Given the description of an element on the screen output the (x, y) to click on. 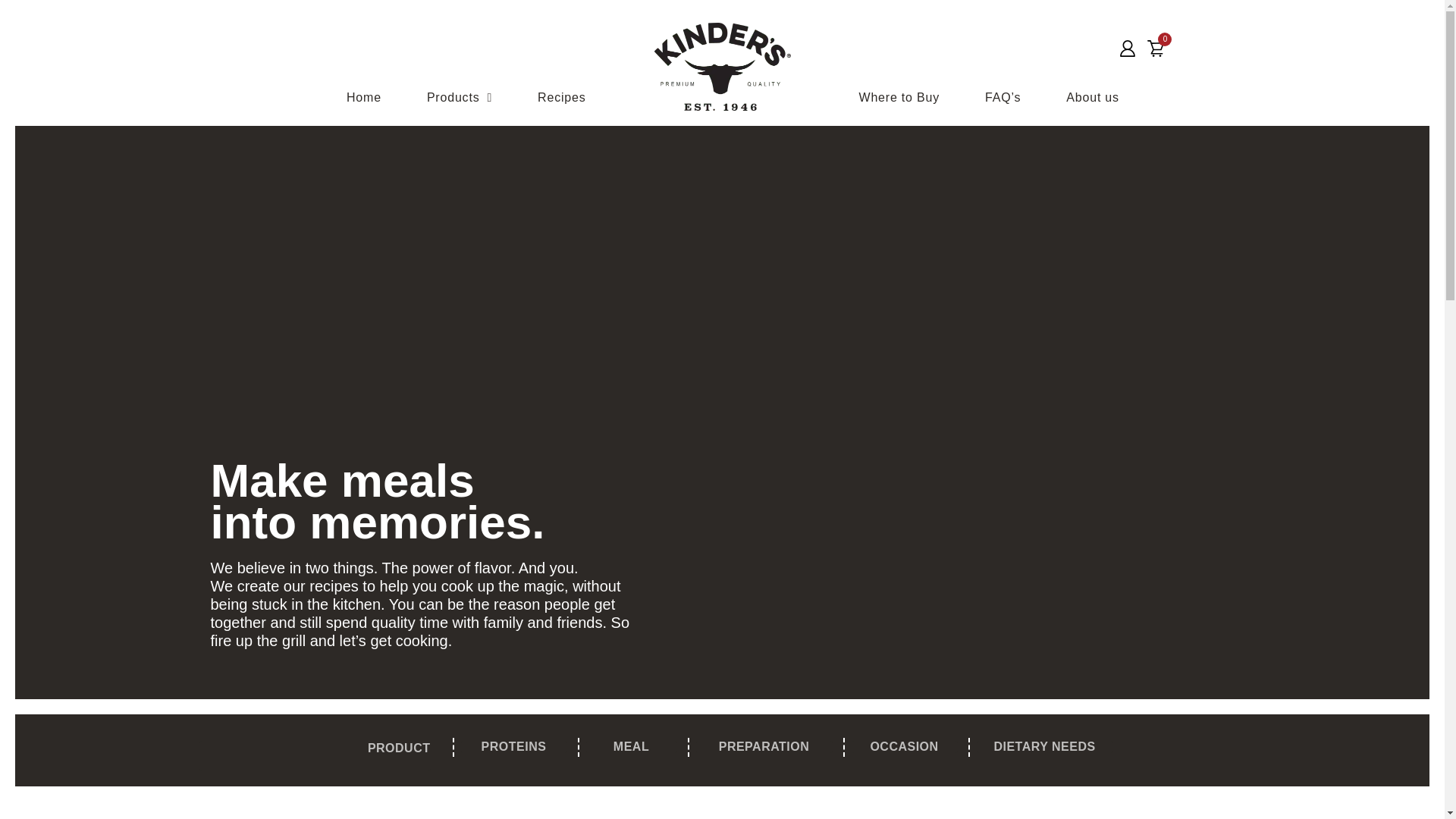
Where to Buy (899, 96)
Recipes (561, 96)
About us (1092, 96)
Home (363, 96)
Products (459, 96)
